Given the description of an element on the screen output the (x, y) to click on. 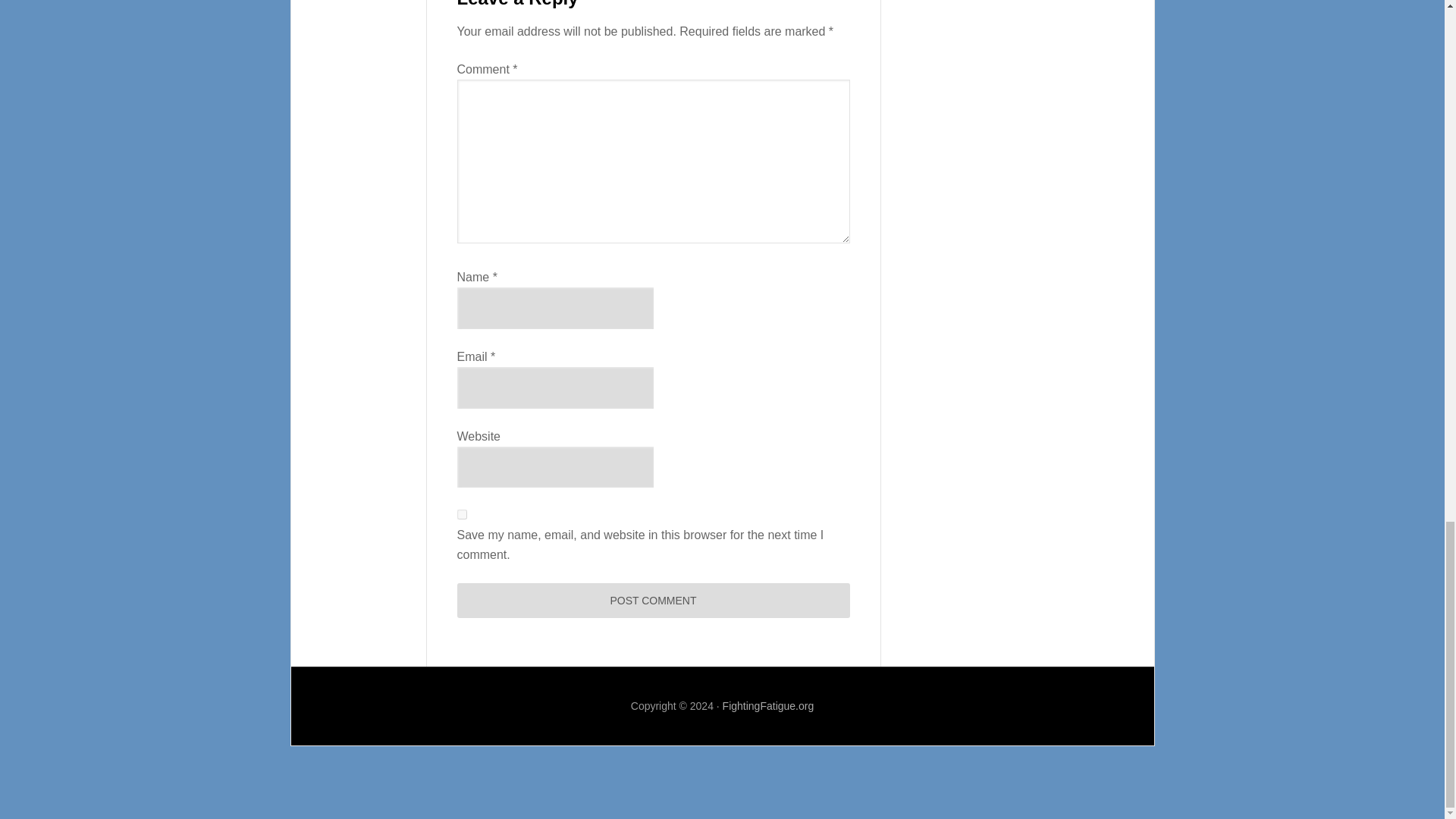
Post Comment (652, 600)
yes (461, 514)
